Given the description of an element on the screen output the (x, y) to click on. 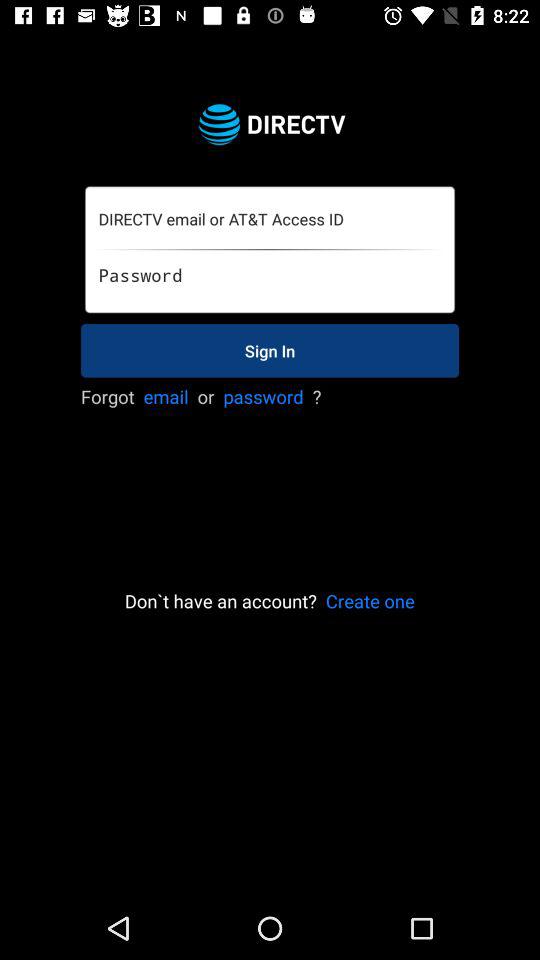
enter your email or access id (269, 219)
